Given the description of an element on the screen output the (x, y) to click on. 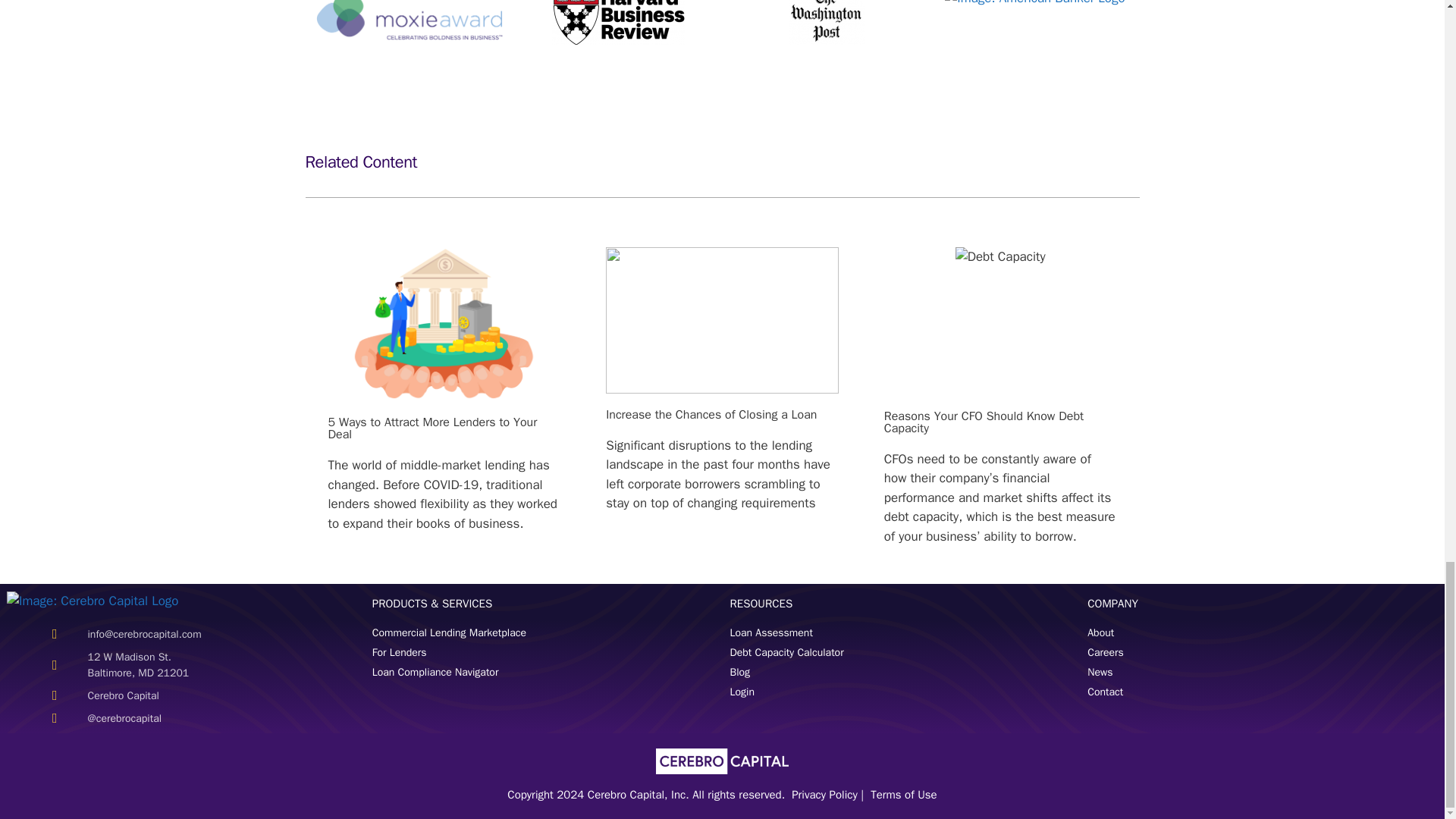
The Washington Post Logo (826, 22)
HBR (617, 22)
AB logo (1034, 4)
Cerebro Capital Logo (93, 600)
